Given the description of an element on the screen output the (x, y) to click on. 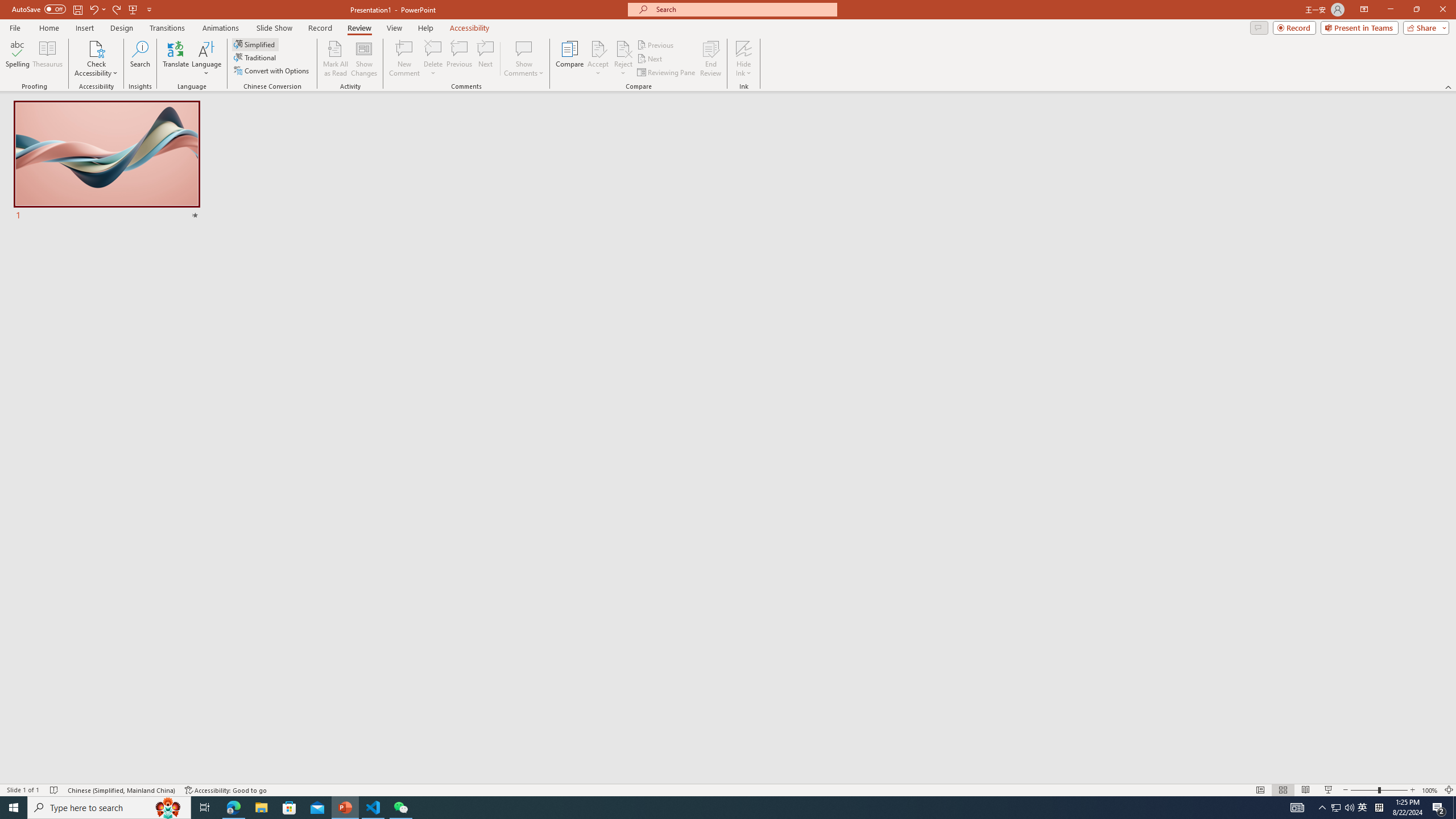
Search (140, 58)
Next (649, 58)
Zoom In (1412, 790)
Share (1423, 27)
Transitions (167, 28)
Animations (220, 28)
End Review (710, 58)
Delete (432, 58)
Hide Ink (743, 48)
Reject Change (622, 48)
Ribbon Display Options (1364, 9)
Save (77, 9)
Show Changes (363, 58)
Delete (432, 48)
